Given the description of an element on the screen output the (x, y) to click on. 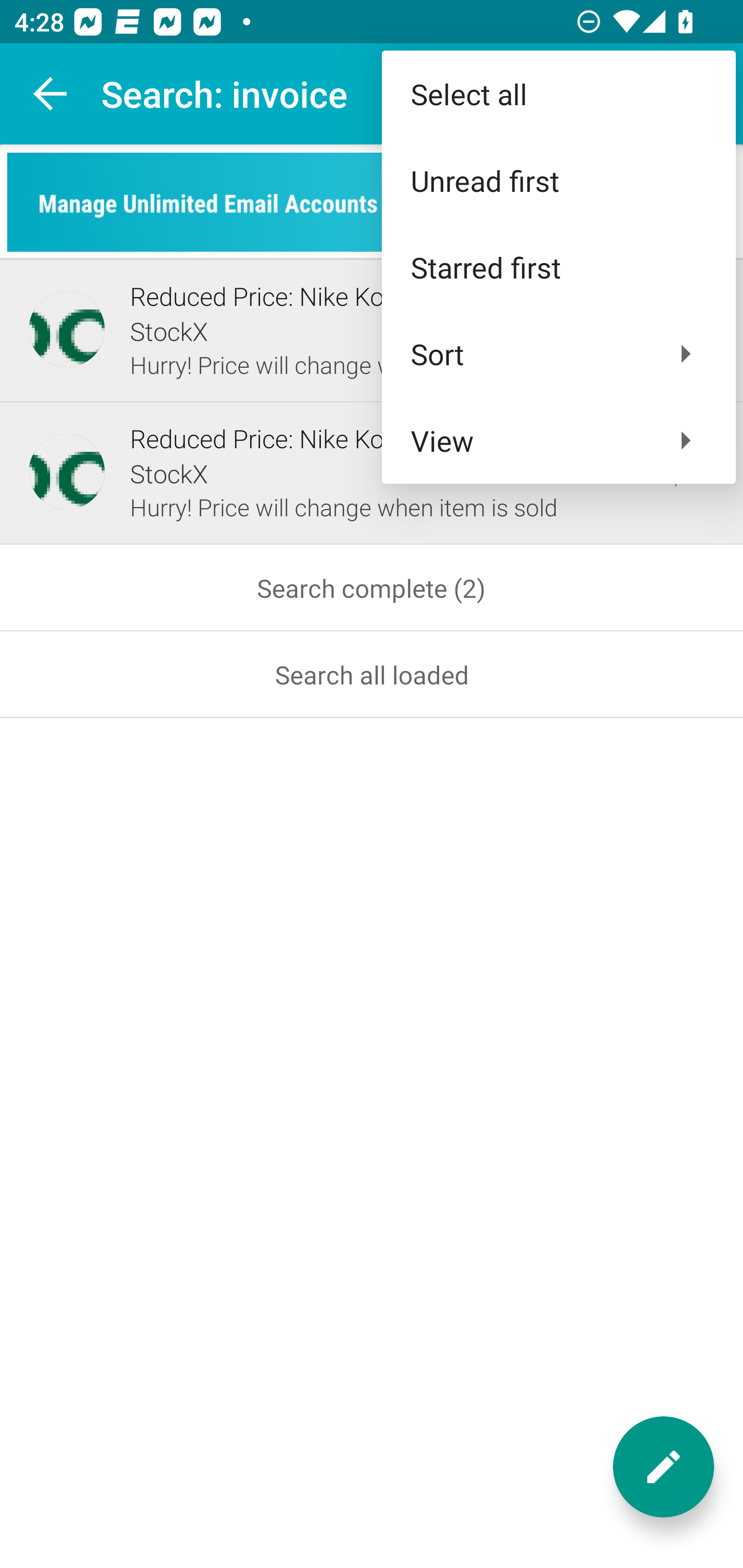
Select all (558, 93)
Unread first (558, 180)
Starred first (558, 267)
Sort (558, 353)
View (558, 440)
